Given the description of an element on the screen output the (x, y) to click on. 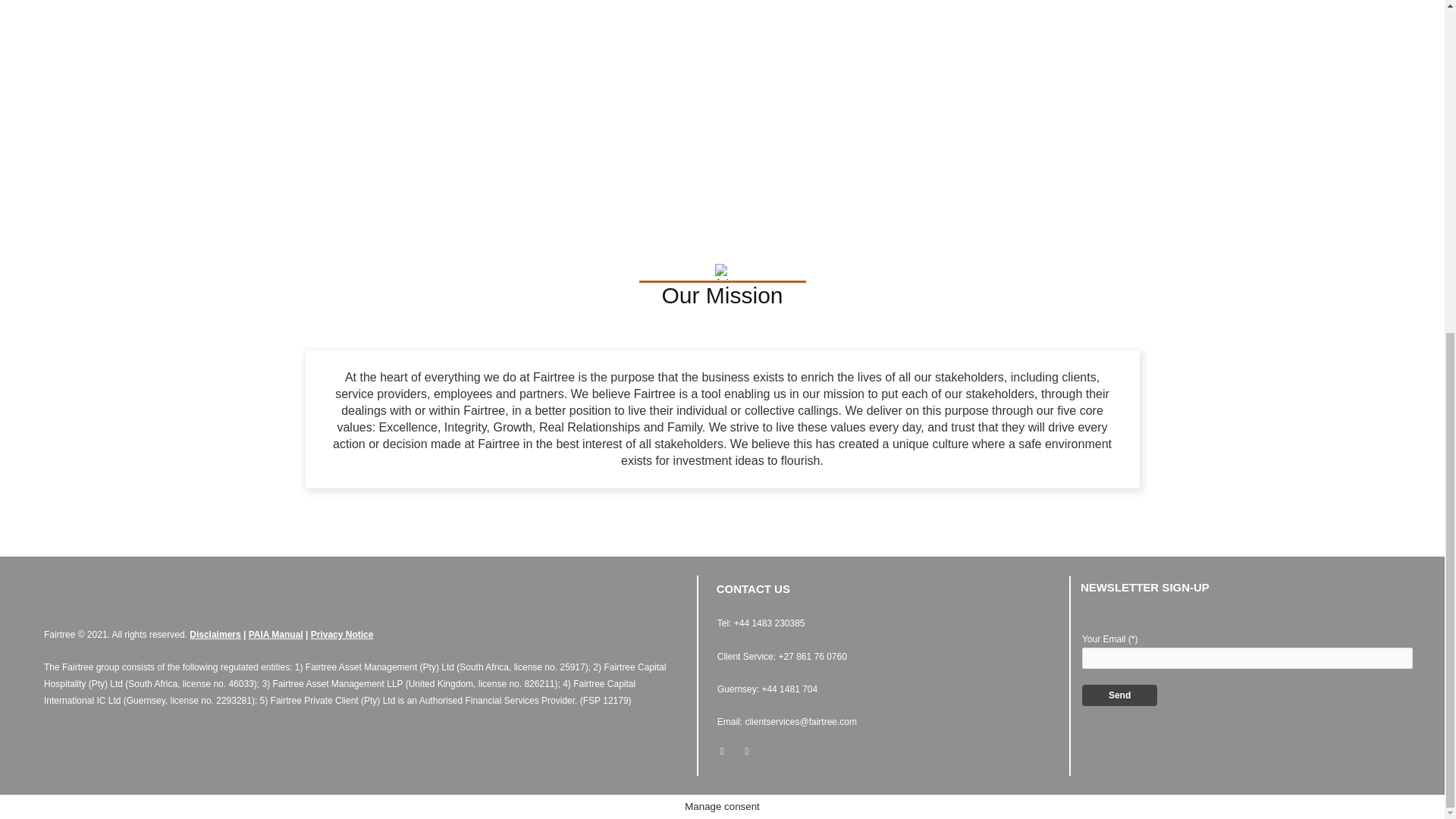
Send (1119, 694)
fairtree icon (721, 271)
